Given the description of an element on the screen output the (x, y) to click on. 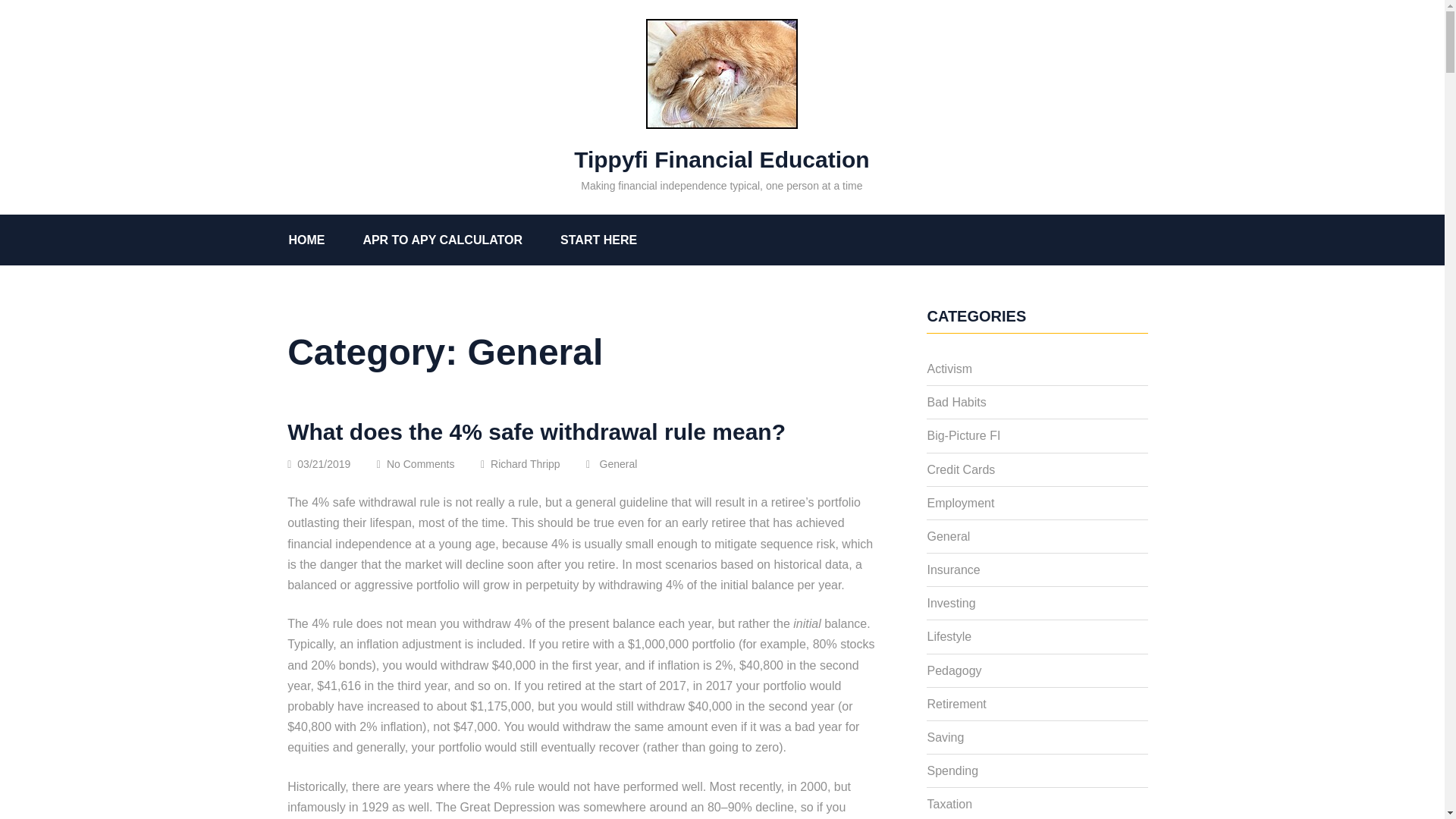
No Comments (432, 463)
APR TO APY CALCULATOR (461, 239)
HOME (325, 239)
General (630, 463)
START HERE (617, 239)
Richard Thripp (531, 463)
